Given the description of an element on the screen output the (x, y) to click on. 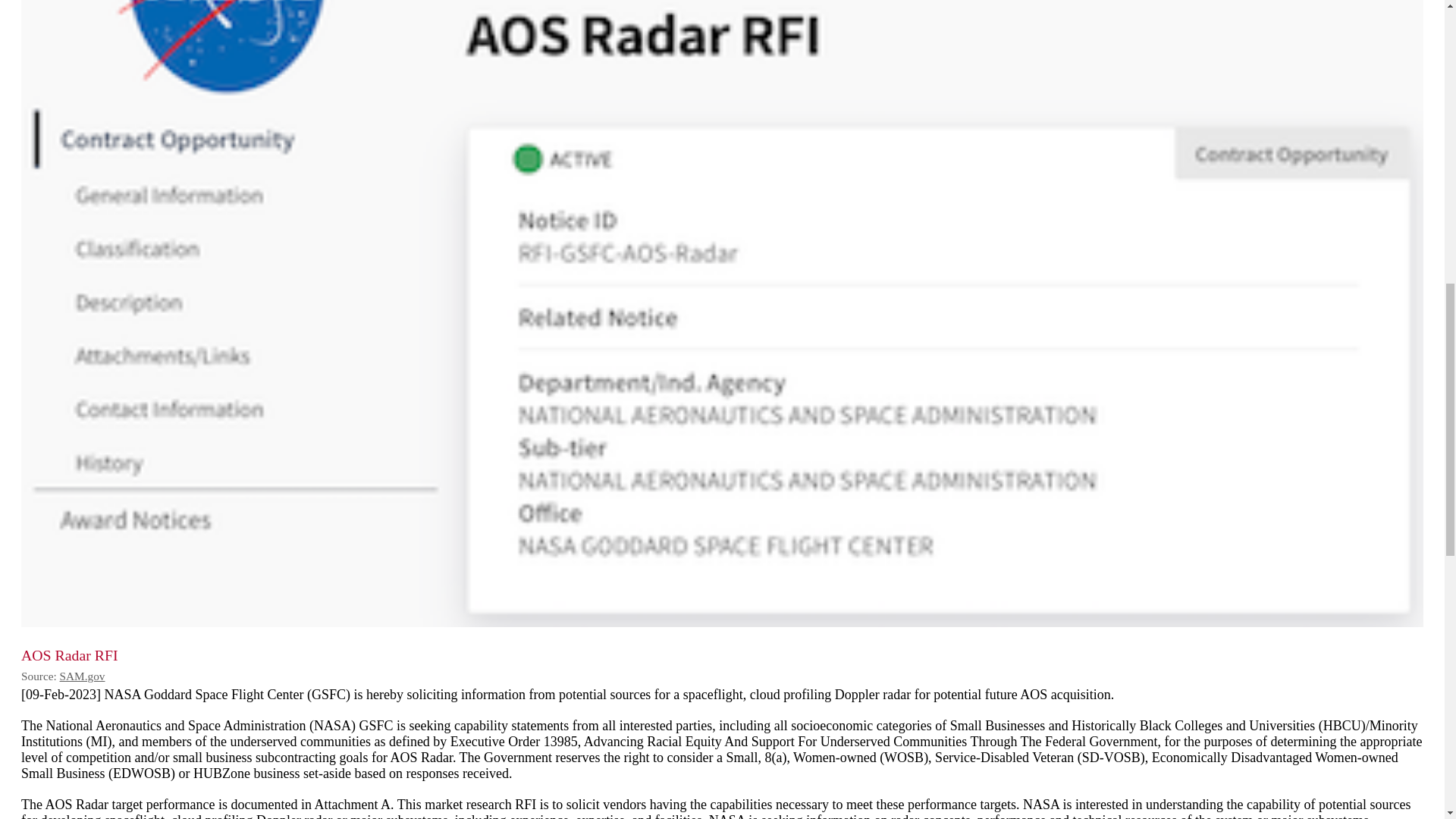
SAM.gov (81, 675)
SAM.gov (81, 675)
